Given the description of an element on the screen output the (x, y) to click on. 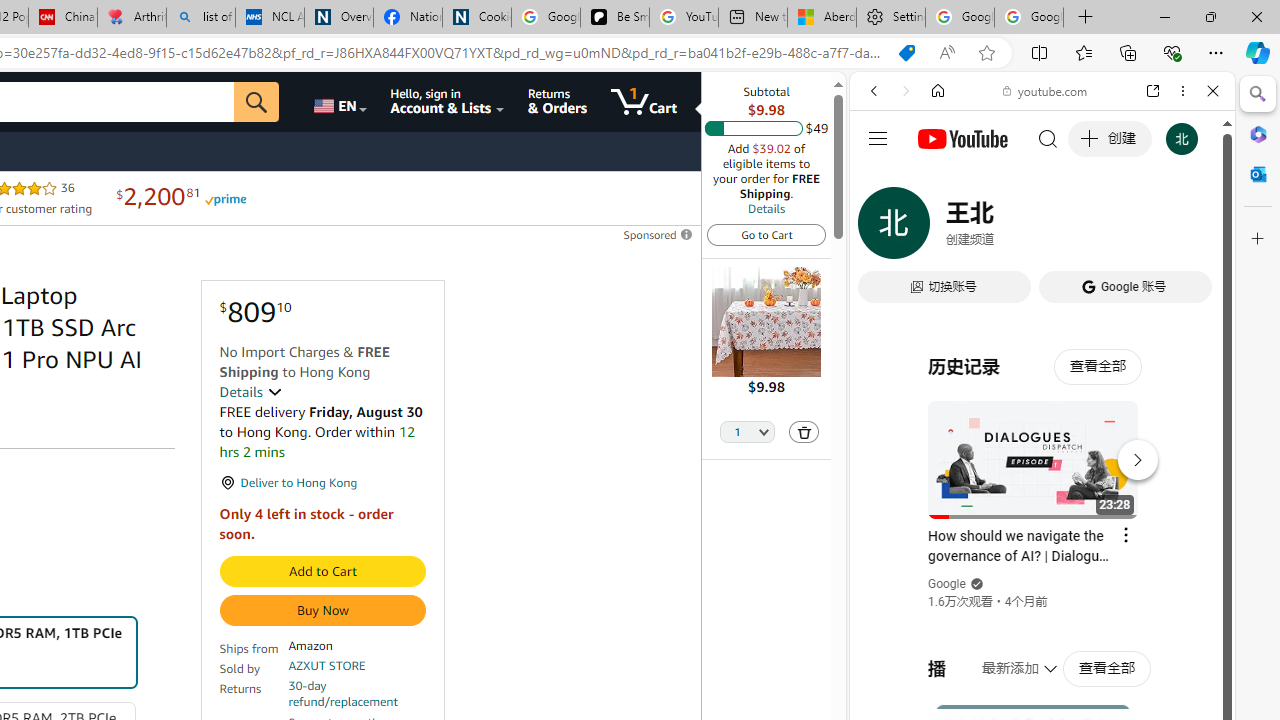
Google (1042, 494)
Minimize (1164, 16)
Cookies (476, 17)
Arthritis: Ask Health Professionals (132, 17)
Class: b_serphb (1190, 229)
Search Filter, Search Tools (1093, 228)
Quantity Selector (747, 433)
Settings (890, 17)
